Given the description of an element on the screen output the (x, y) to click on. 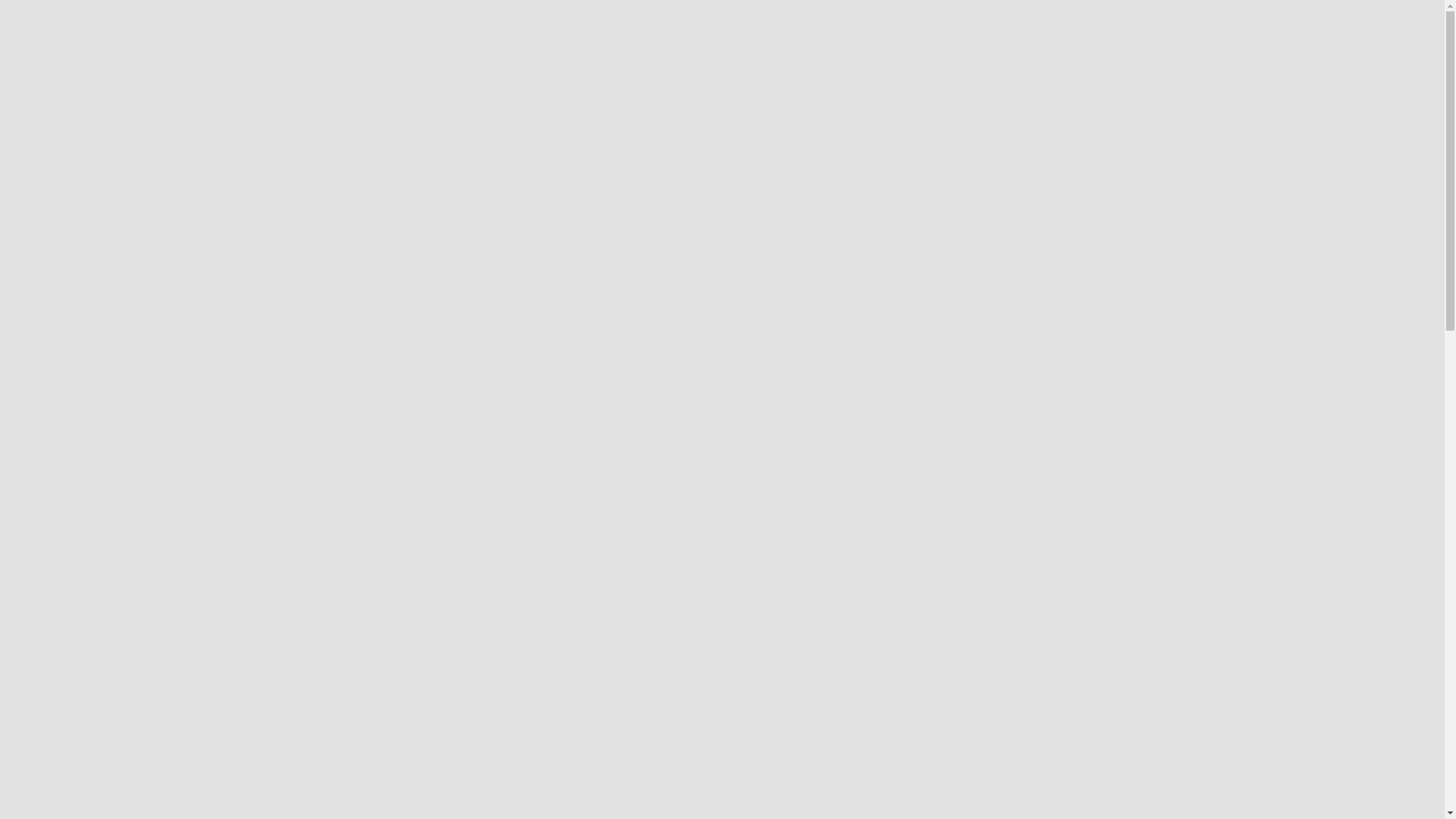
9371 6088 Element type: text (1034, 48)
CONTACT US Element type: text (1163, 48)
About us Element type: text (338, 214)
Home Element type: text (289, 214)
